Given the description of an element on the screen output the (x, y) to click on. 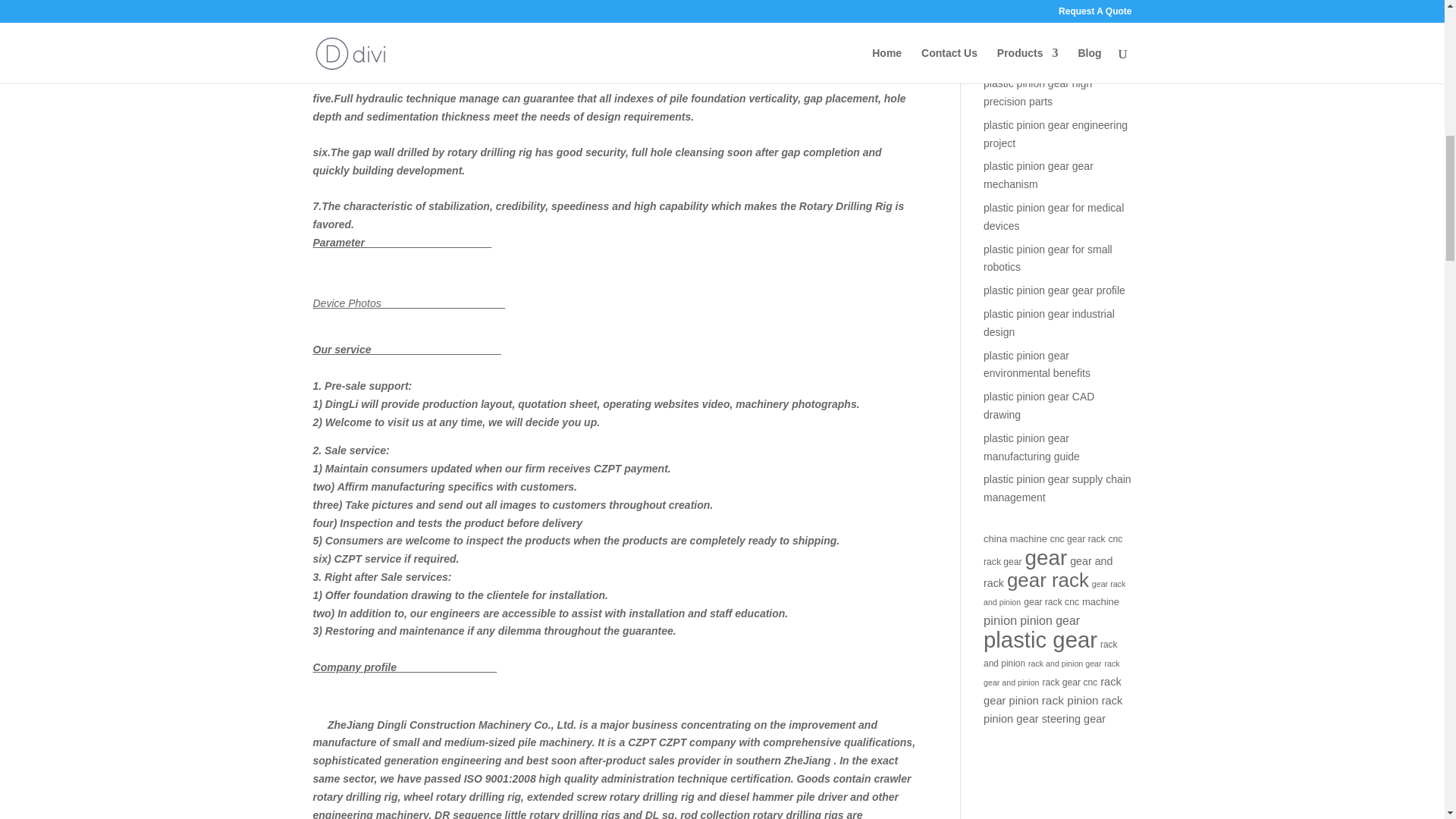
plastic pinion gear engineering project (1055, 133)
plastic pinion gear gear profile (1054, 290)
plastic pinion gear high precision parts (1038, 91)
plastic pinion gear industrial design (1049, 322)
plastic pinion gear in automation systems (1032, 51)
plastic pinion gear gear mechanism (1038, 174)
plastic pinion gear for medical devices (1054, 216)
plastic pinion gear sourcing guide (1048, 12)
plastic pinion gear environmental benefits (1037, 364)
plastic pinion gear CAD drawing (1039, 405)
